Given the description of an element on the screen output the (x, y) to click on. 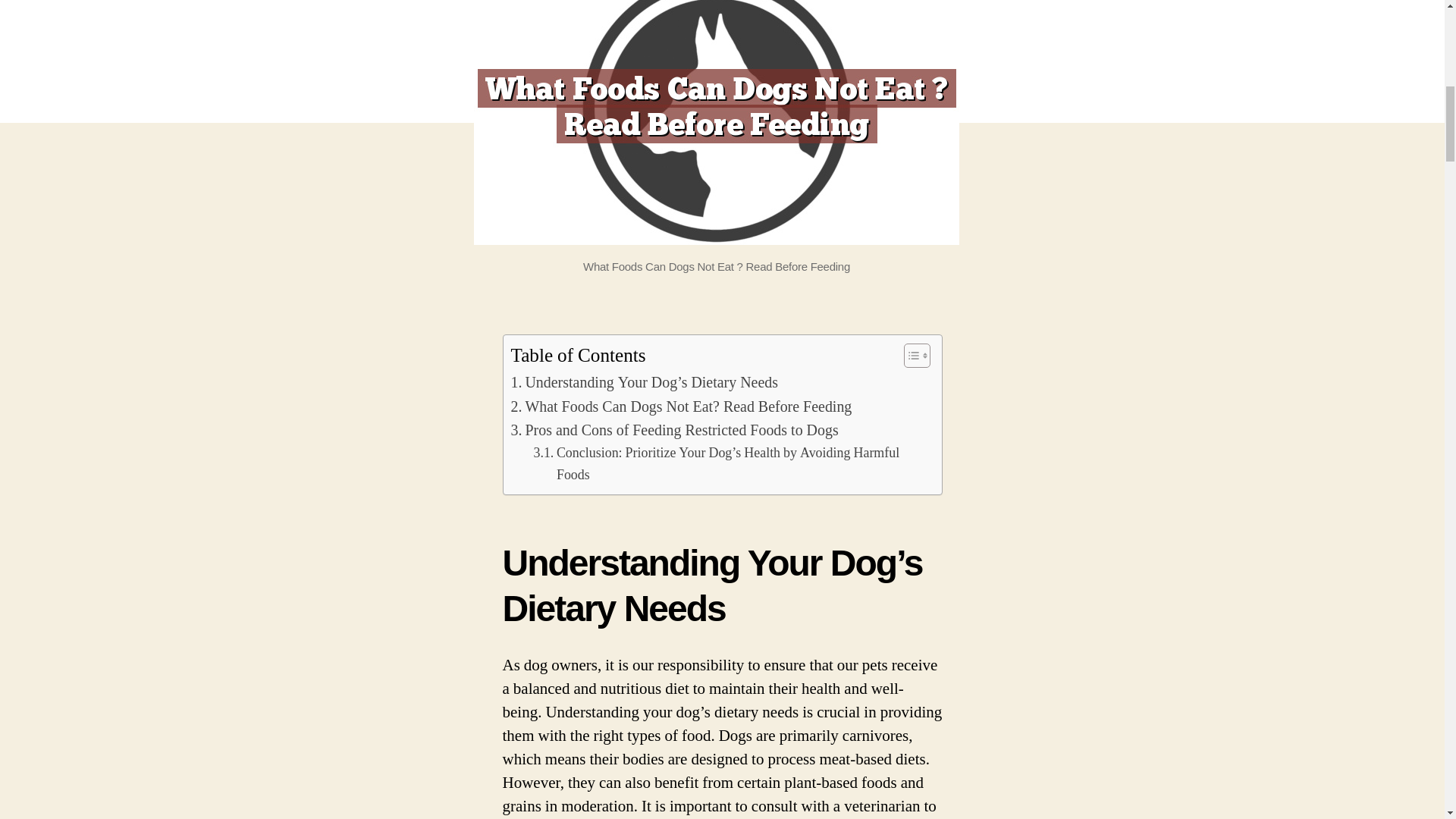
Pros and Cons of Feeding Restricted Foods to Dogs (674, 430)
What Foods Can Dogs Not Eat? Read Before Feeding (681, 406)
What Foods Can Dogs Not Eat? Read Before Feeding (681, 406)
Pros and Cons of Feeding Restricted Foods to Dogs (674, 430)
